Given the description of an element on the screen output the (x, y) to click on. 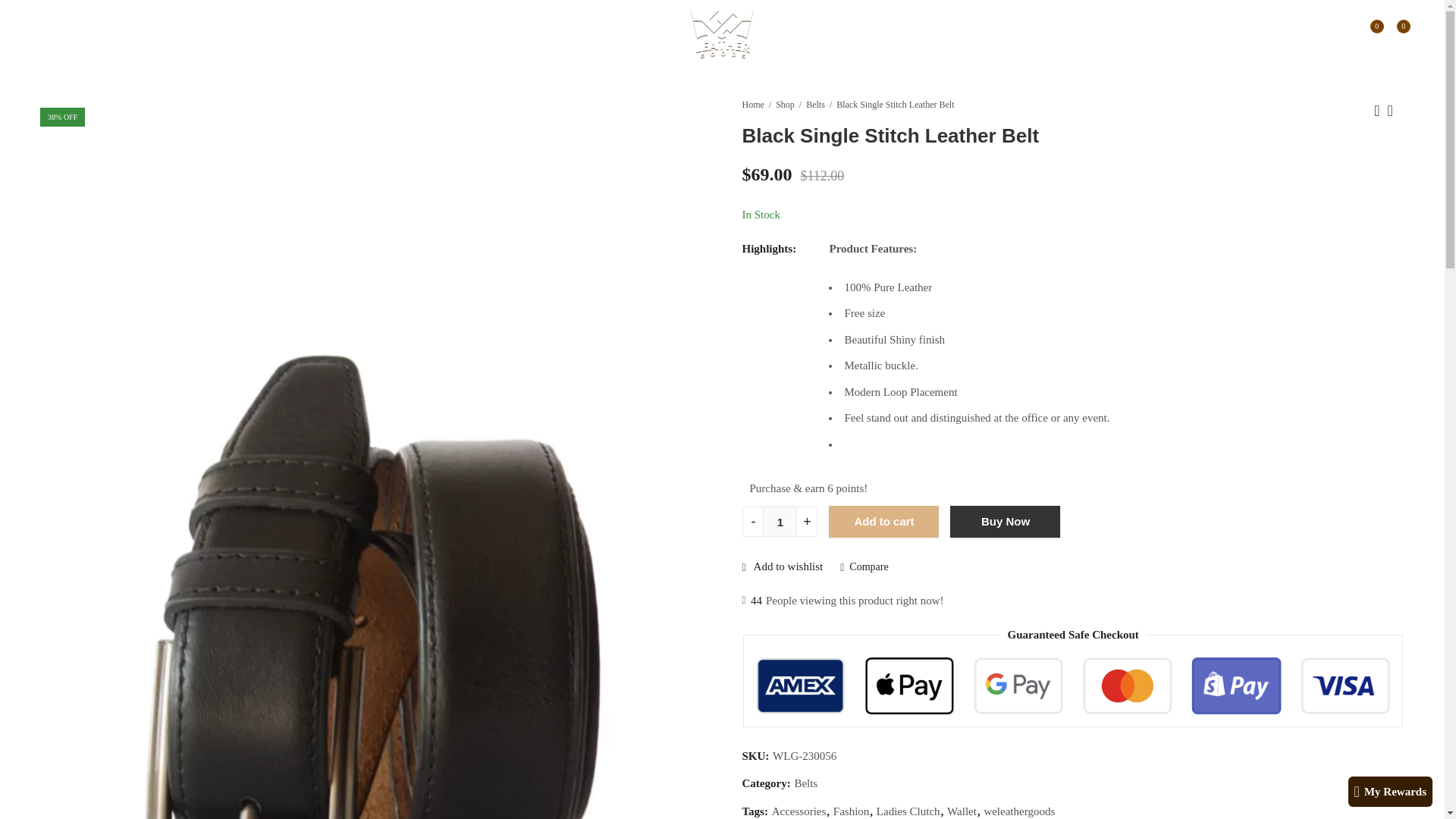
Rewards (230, 34)
weleathergoods (1019, 809)
Men (58, 34)
Buy Now (1004, 521)
Ladies Clutch (908, 809)
Belts (815, 104)
Home (751, 104)
Shop (785, 104)
Add to wishlist (781, 566)
Blog (279, 34)
